Given the description of an element on the screen output the (x, y) to click on. 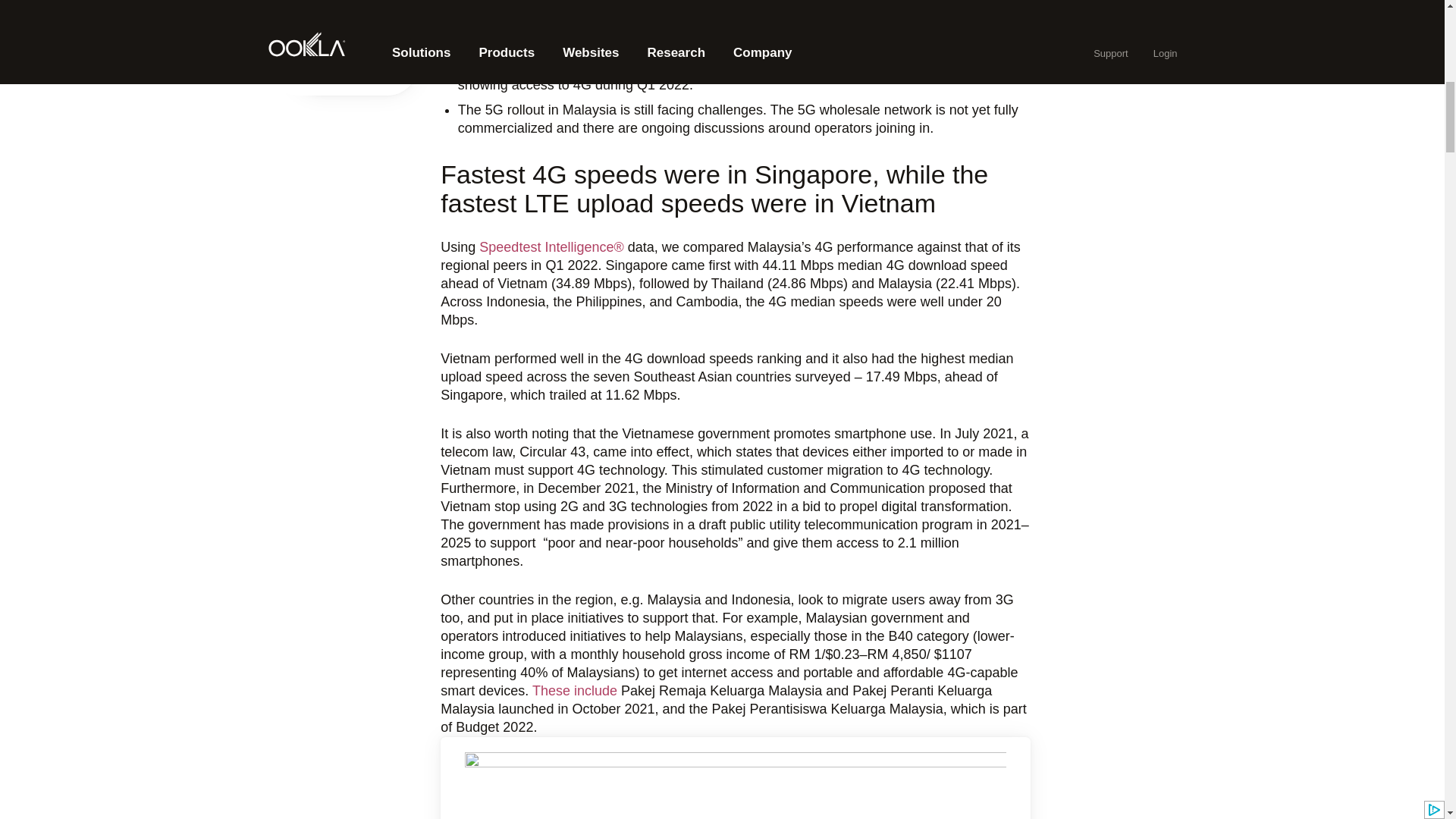
Reddit (332, 55)
LinkedIn (332, 22)
